Given the description of an element on the screen output the (x, y) to click on. 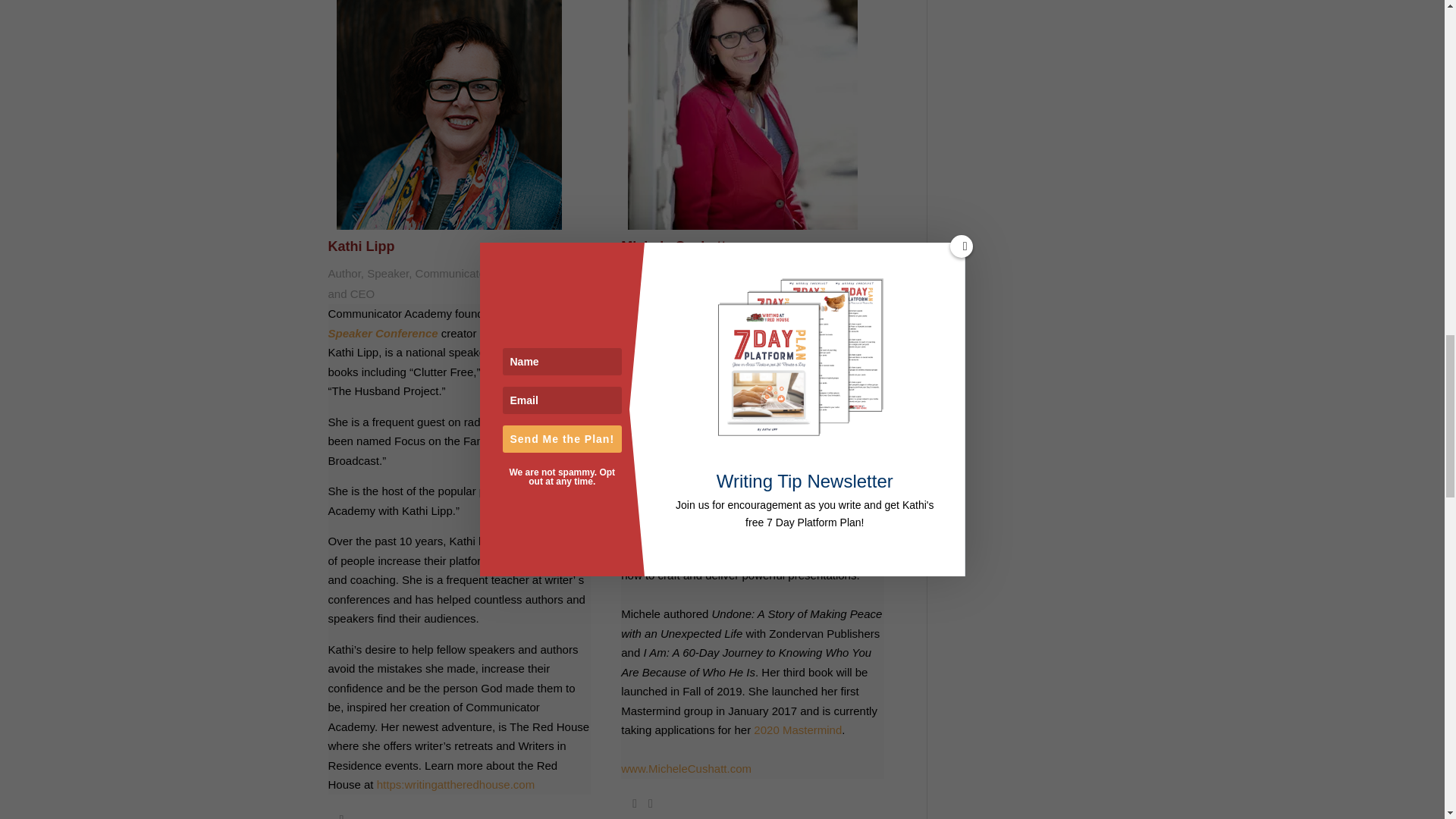
https:writingattheredhouse.com (455, 784)
2020 Mastermind (797, 729)
Leverage: The Speaker Conference (451, 323)
www.MicheleCushatt.com (686, 768)
